Given the description of an element on the screen output the (x, y) to click on. 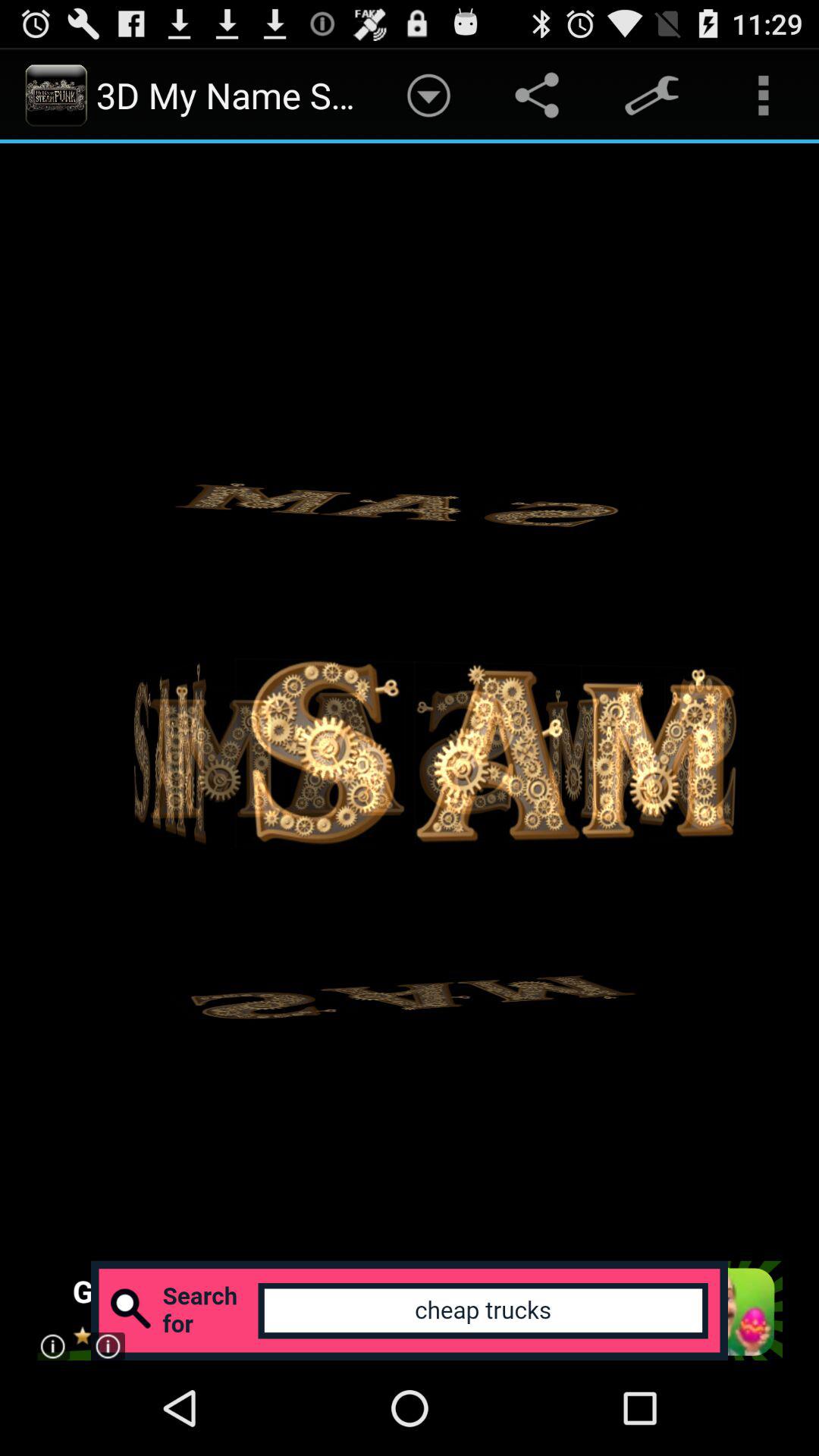
go to advanced search (408, 1310)
